Given the description of an element on the screen output the (x, y) to click on. 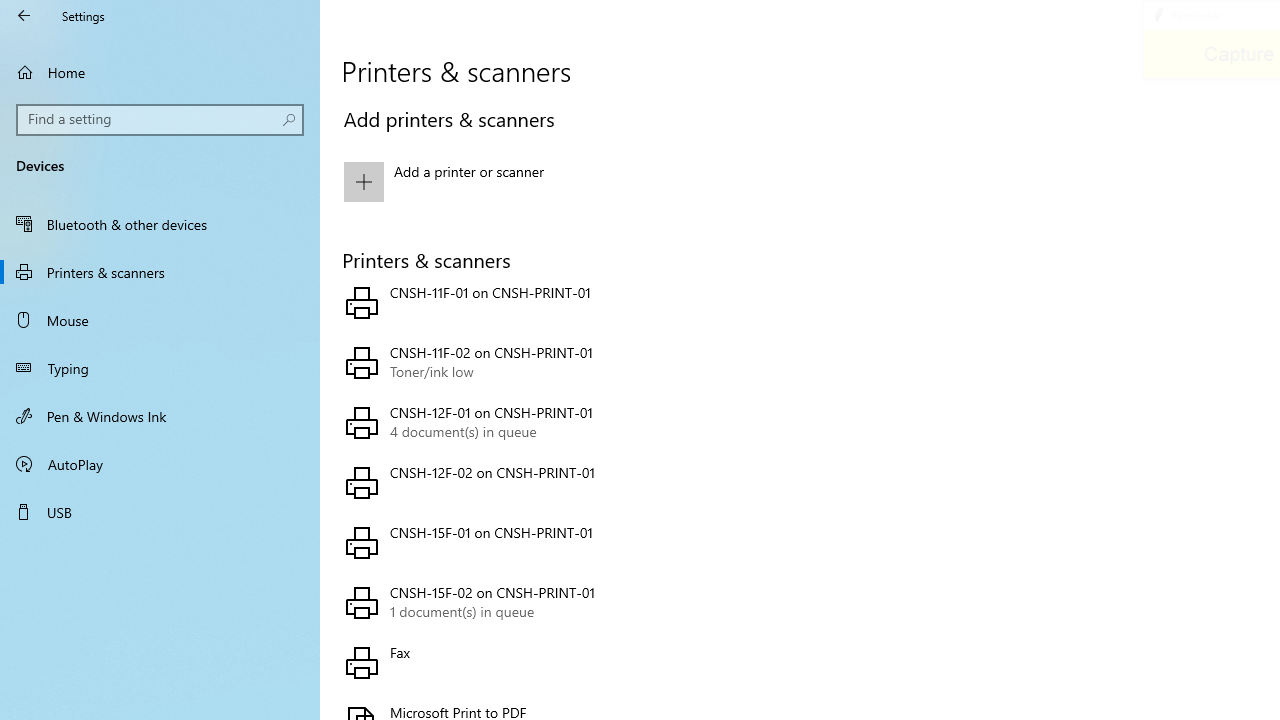
CNSH-12F-02 on CNSH-PRINT-01 (563, 482)
Pen & Windows Ink (160, 415)
Typing (160, 367)
Add a printer or scanner (563, 181)
USB (160, 511)
Mouse (160, 319)
Bluetooth & other devices (160, 223)
CNSH-11F-01 on CNSH-PRINT-01 (563, 302)
CNSH-15F-02 on CNSH-PRINT-01 1 document(s) in queue (563, 602)
AutoPlay (160, 463)
Printers & scanners (160, 271)
Fax (563, 662)
CNSH-11F-02 on CNSH-PRINT-01 Toner/ink low (563, 362)
